Given the description of an element on the screen output the (x, y) to click on. 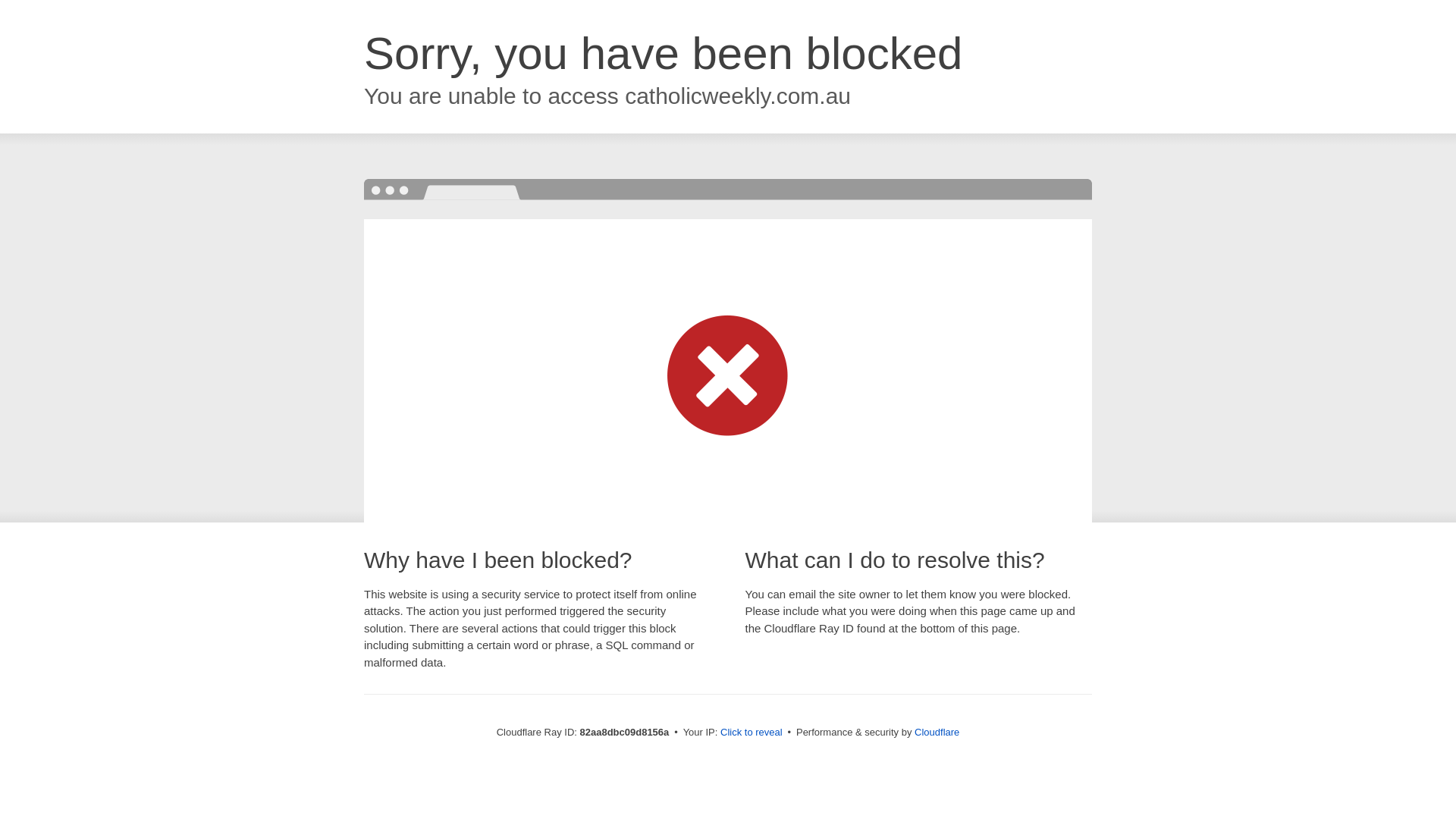
Cloudflare Element type: text (936, 731)
Click to reveal Element type: text (751, 732)
